Given the description of an element on the screen output the (x, y) to click on. 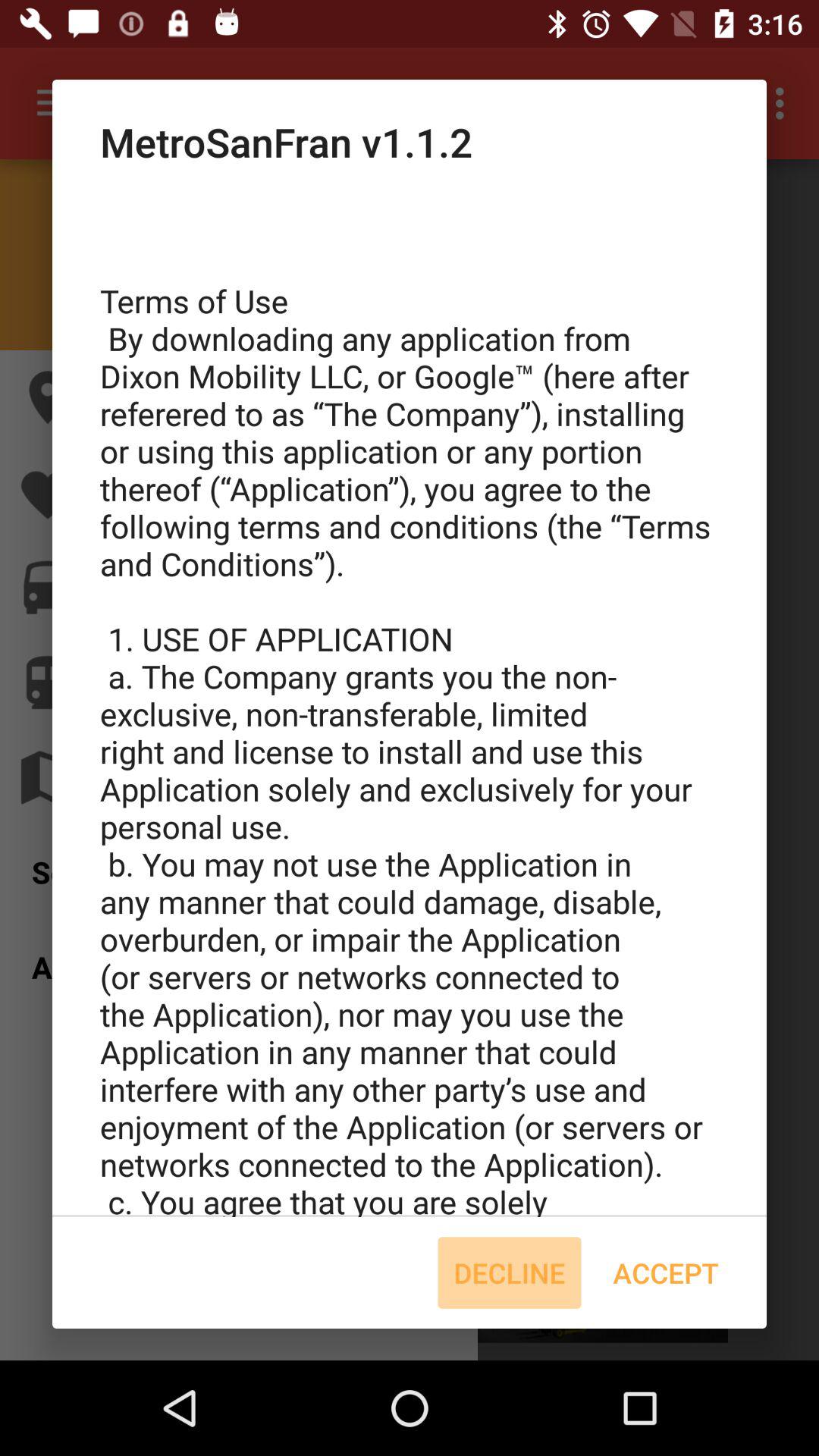
press the item below terms of use icon (509, 1272)
